Given the description of an element on the screen output the (x, y) to click on. 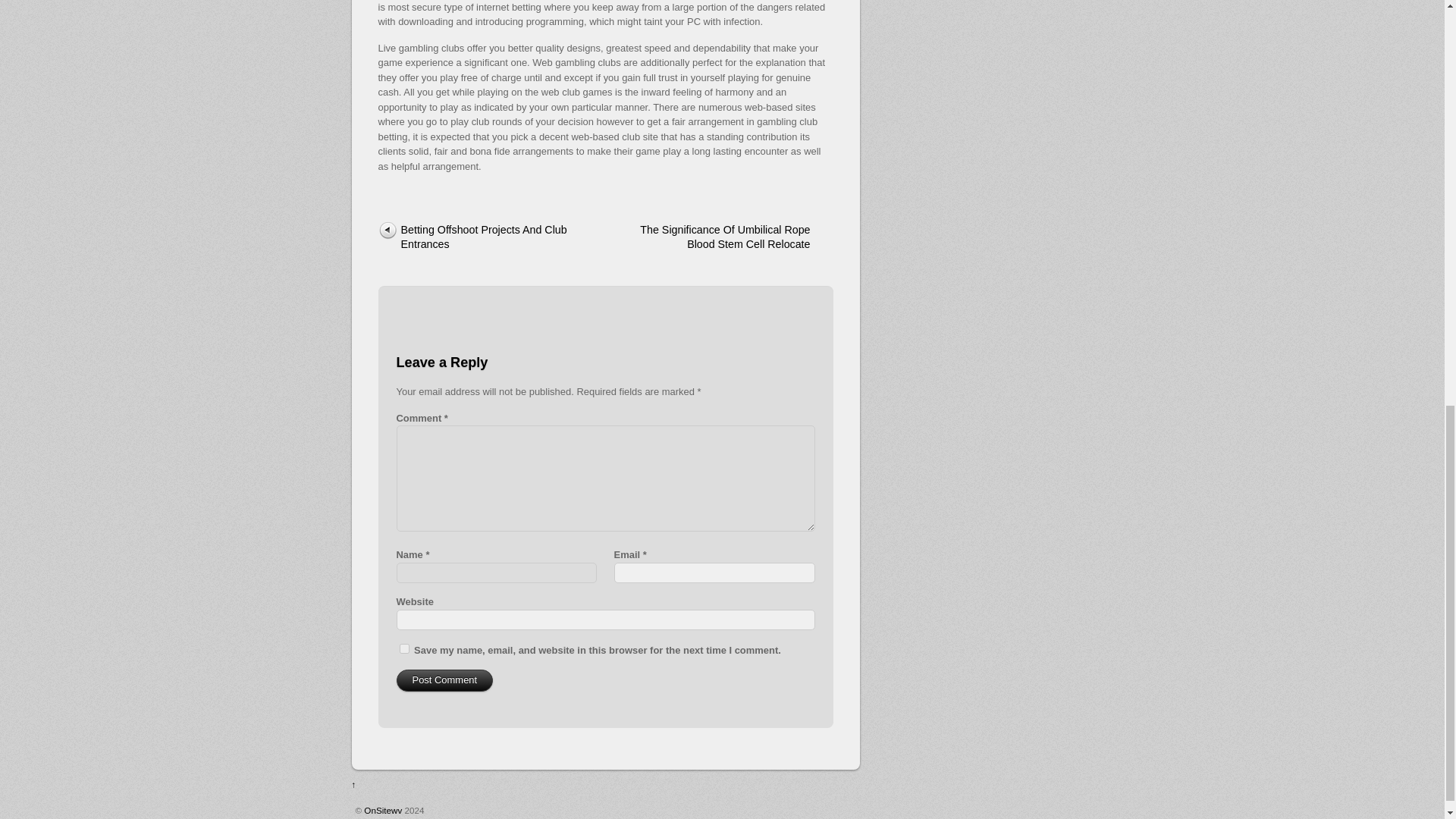
The Significance Of Umbilical Rope Blood Stem Cell Relocate (729, 238)
OnSitewv (382, 809)
Post Comment (444, 680)
Betting Offshoot Projects And Club Entrances (479, 238)
yes (403, 648)
Post Comment (444, 680)
